Given the description of an element on the screen output the (x, y) to click on. 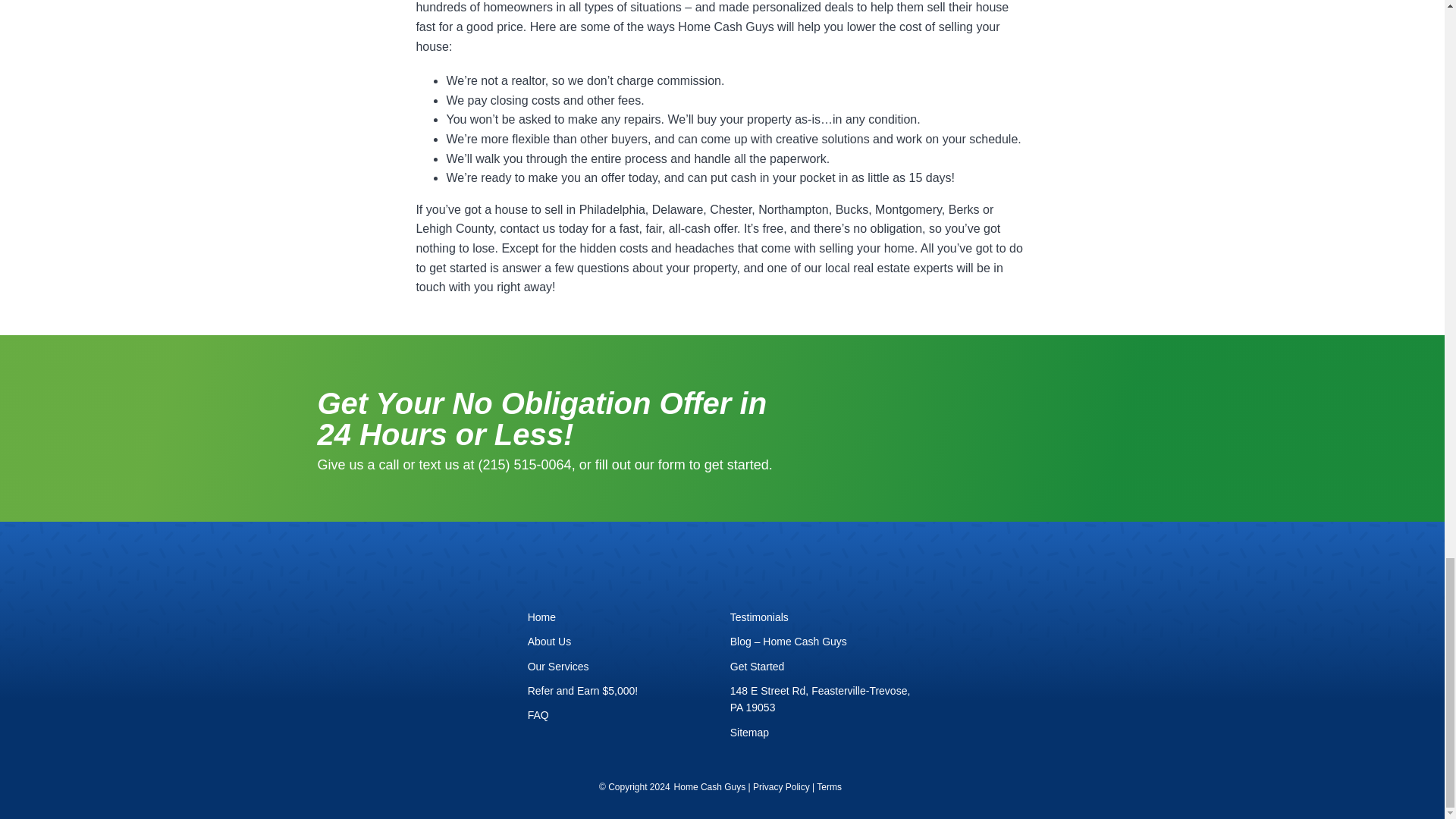
Testimonials (823, 617)
FAQ (620, 714)
answer a few questions about your property (619, 267)
148 E Street Rd, Feasterville-Trevose, PA 19053 (823, 699)
Get Started (823, 666)
About Us (620, 641)
Home (620, 617)
Sitemap (823, 732)
Our Services (620, 666)
Bucks (852, 209)
